Given the description of an element on the screen output the (x, y) to click on. 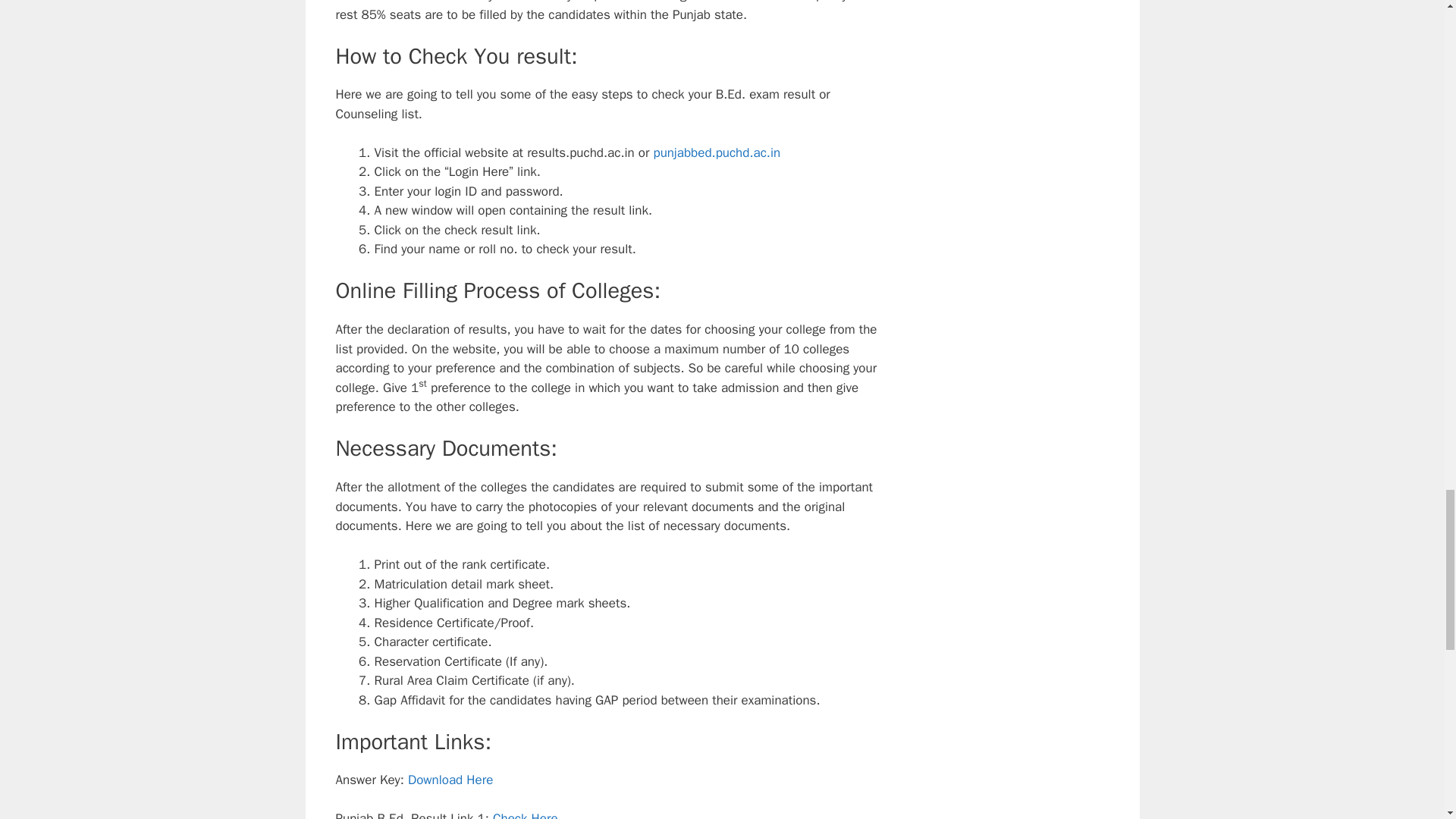
Download Here (450, 779)
punjabbed.puchd.ac.in (716, 152)
Check Here (525, 814)
